Given the description of an element on the screen output the (x, y) to click on. 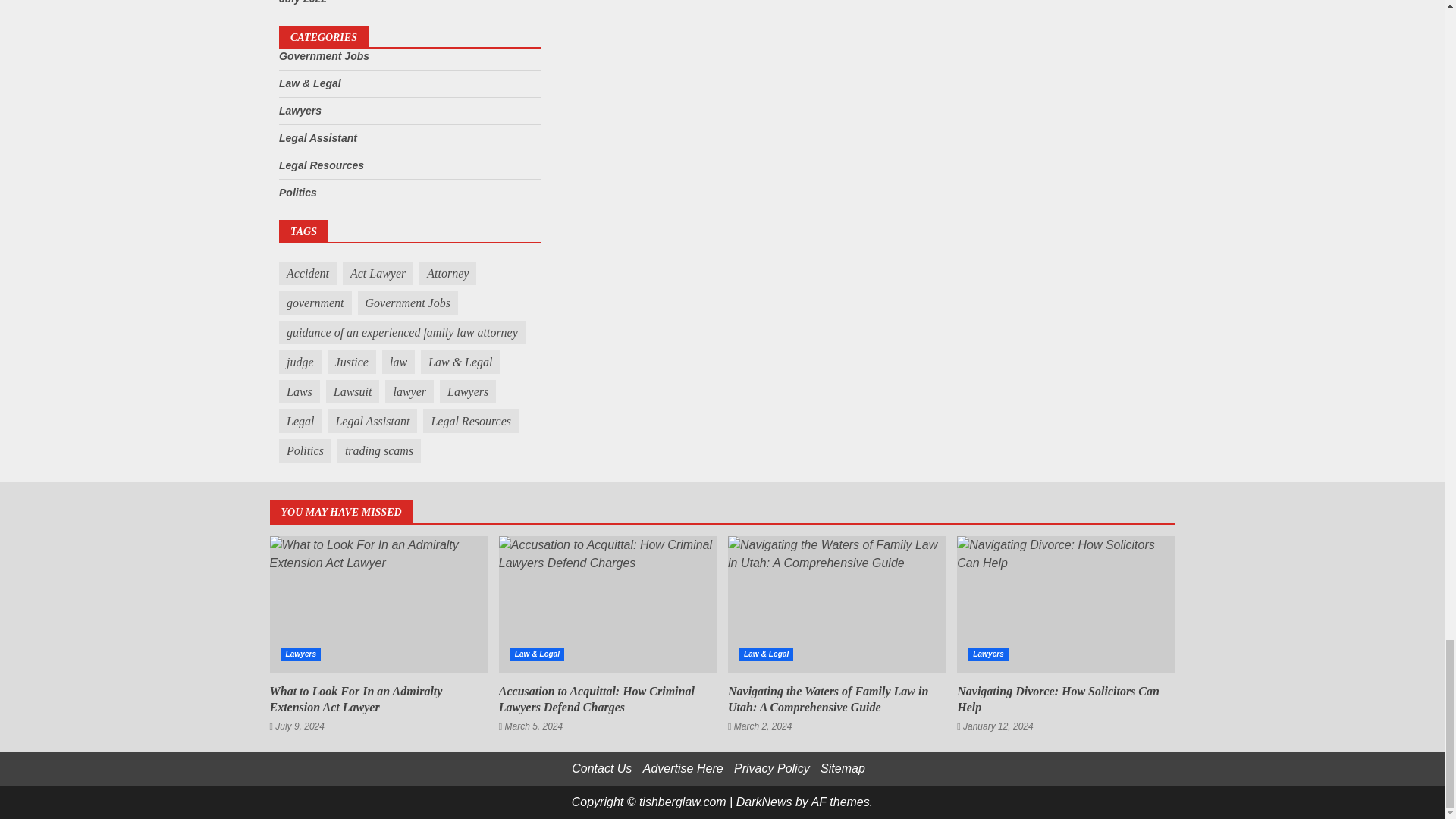
What to Look For In an Admiralty Extension Act Lawyer (378, 604)
Navigating Divorce: How Solicitors Can Help (1065, 604)
Accusation to Acquittal: How Criminal Lawyers Defend Charges (607, 604)
